Given the description of an element on the screen output the (x, y) to click on. 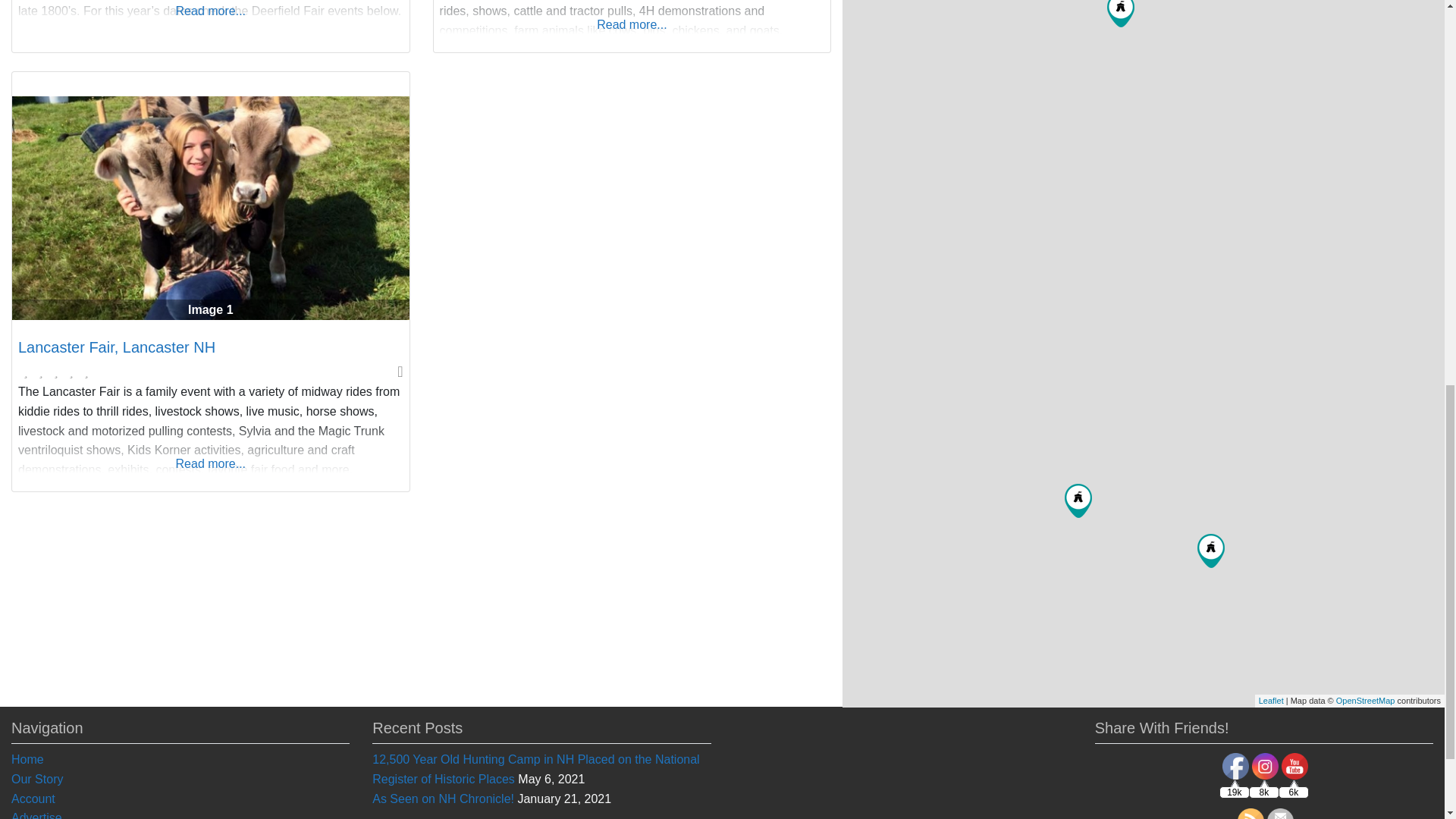
Image 1 (210, 208)
View: Lancaster Fair, Lancaster NH (116, 347)
No rating yet! (55, 372)
